Given the description of an element on the screen output the (x, y) to click on. 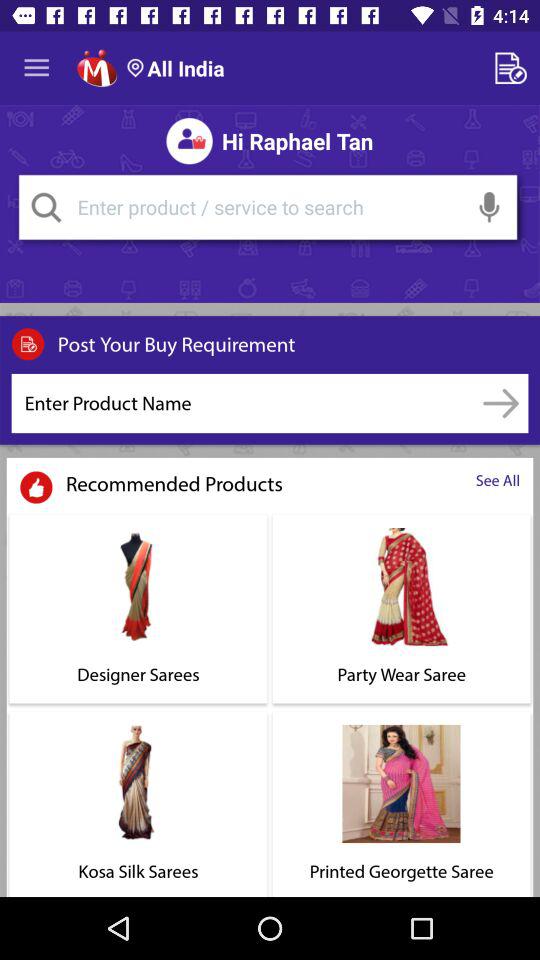
click to the search option (267, 207)
